Given the description of an element on the screen output the (x, y) to click on. 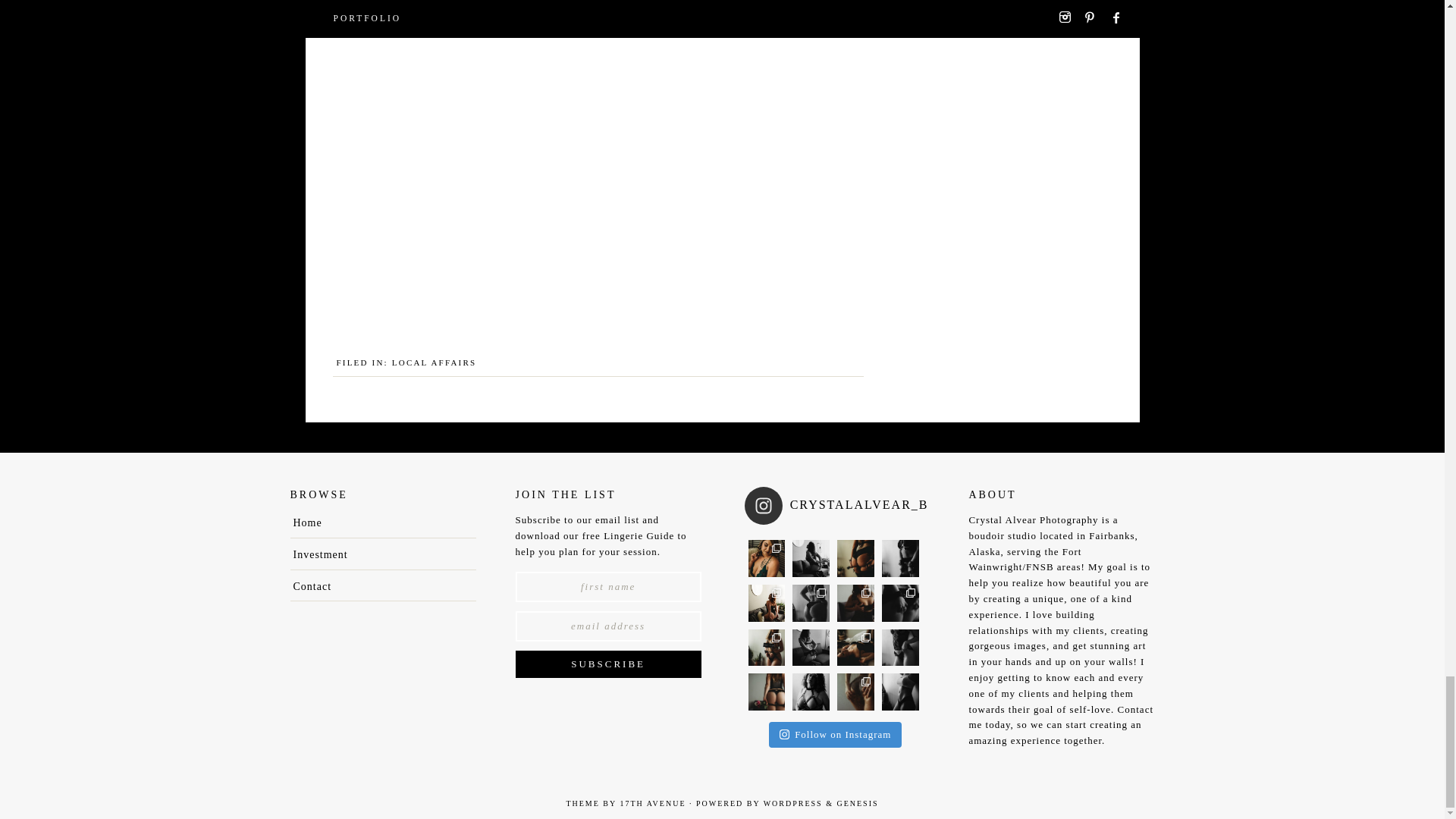
Subscribe (608, 664)
LOCAL AFFAIRS (433, 361)
Fairbanks Boudoir Photographer (306, 522)
